Given the description of an element on the screen output the (x, y) to click on. 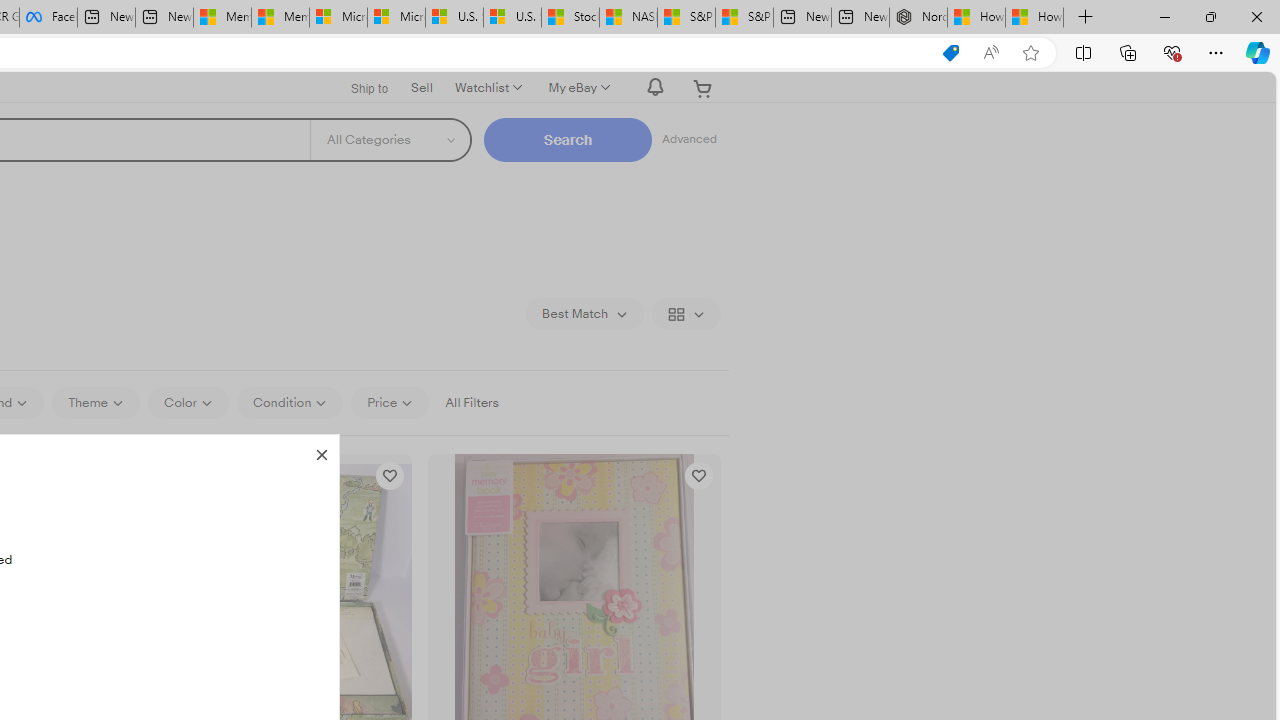
Facebook (48, 17)
This site has coupons! Shopping in Microsoft Edge (950, 53)
